Given the description of an element on the screen output the (x, y) to click on. 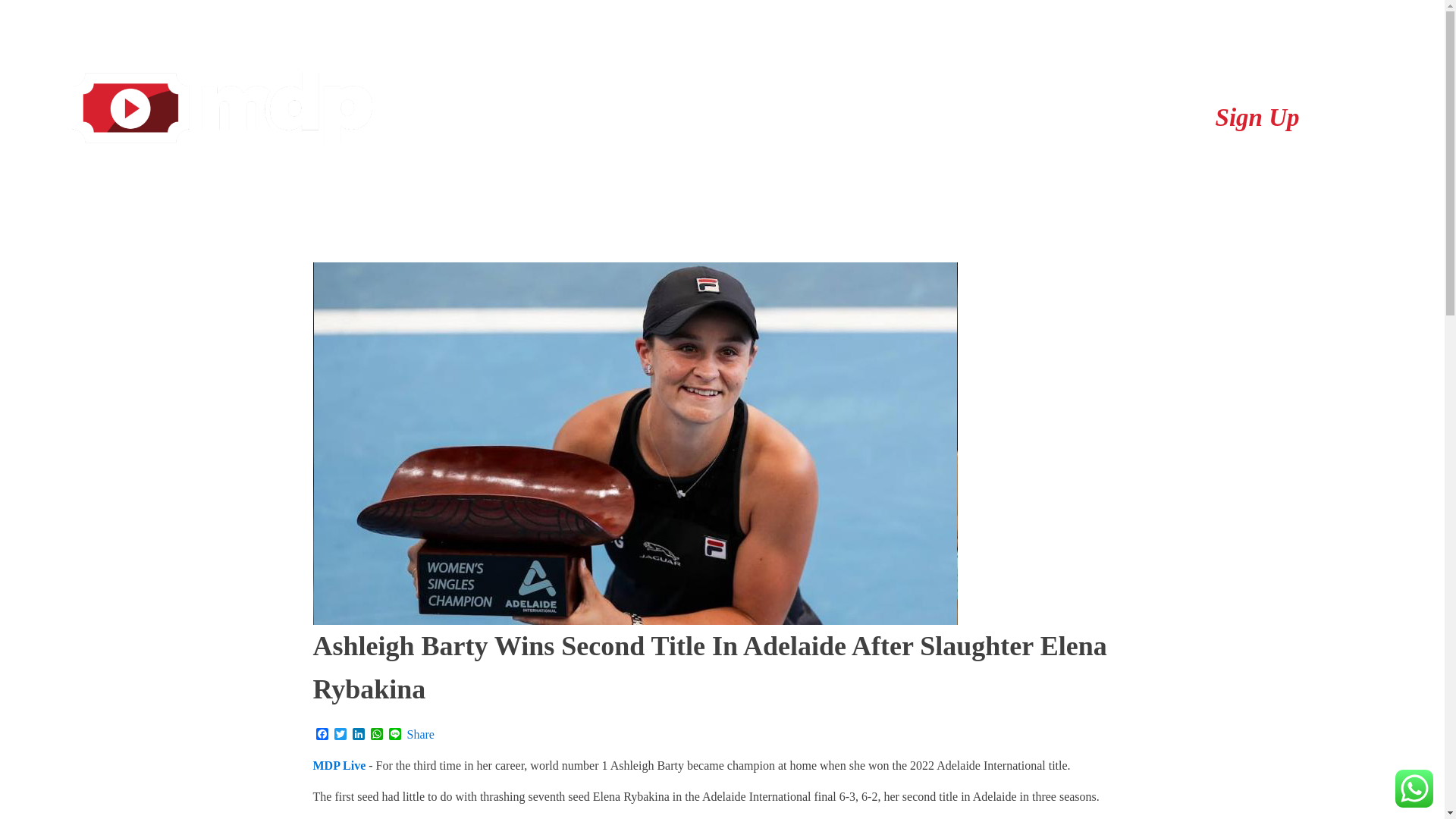
Facebook (321, 735)
WhatsApp (375, 735)
Twitter (339, 735)
Sign Up (1256, 123)
Log In (1056, 124)
Share (419, 734)
Line (394, 735)
LinkedIn (357, 735)
LinkedIn (357, 735)
WhatsApp (375, 735)
Facebook (321, 735)
Blog (878, 124)
Line (394, 735)
MDP Live (339, 764)
Twitter (339, 735)
